Given the description of an element on the screen output the (x, y) to click on. 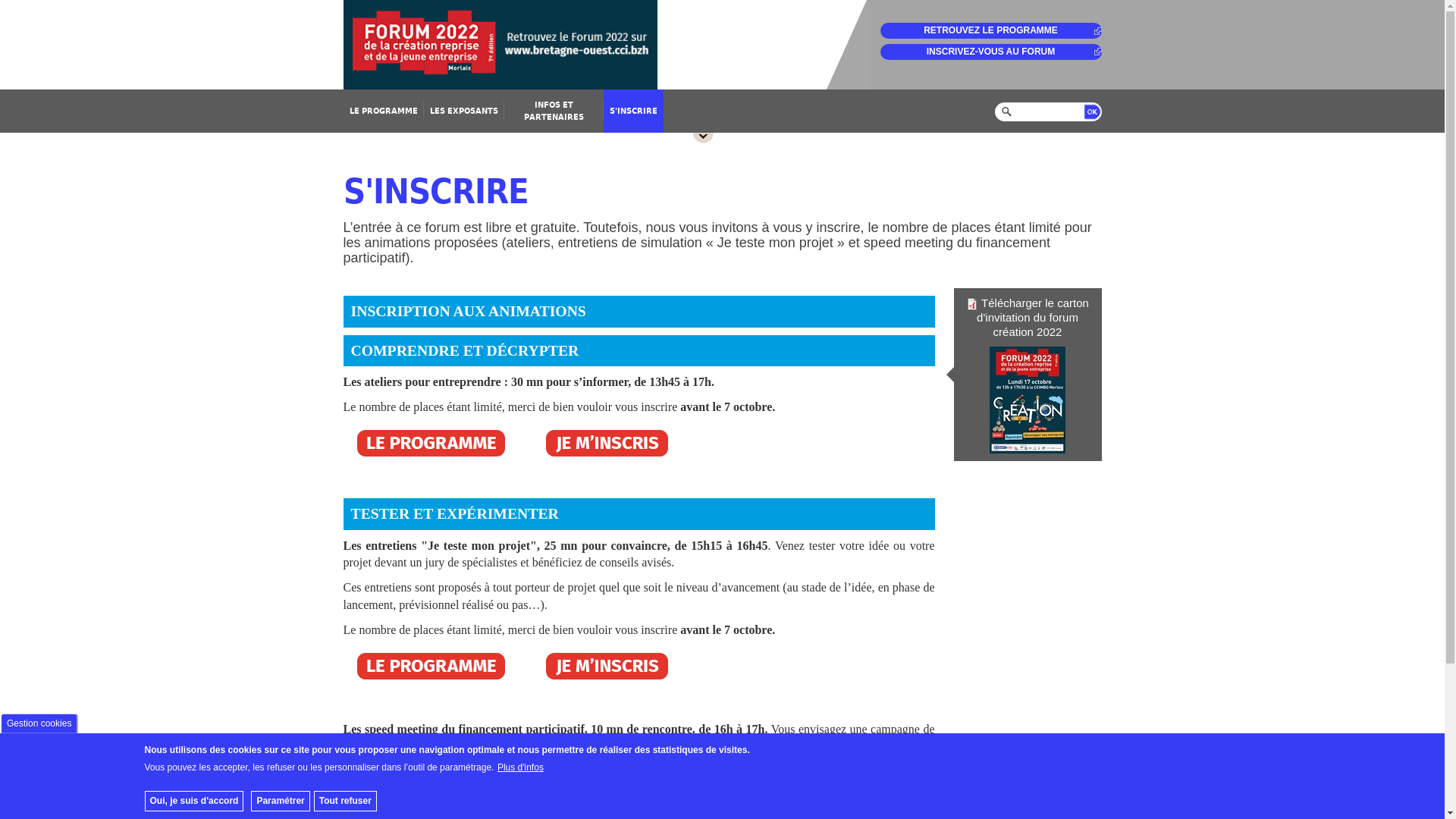
LE PROGRAMME Element type: text (382, 110)
Accueil Element type: hover (721, 44)
Plus d'infos Element type: text (520, 767)
RETROUVEZ LE PROGRAMME Element type: text (990, 30)
INSCRIVEZ-VOUS AU FORUM Element type: text (990, 51)
INFOS ET PARTENAIRES Element type: text (552, 110)
S'INSCRIRE Element type: text (633, 110)
Appliquer Element type: text (1091, 111)
Oui, je suis d'accord Element type: text (193, 800)
  Element type: text (703, 137)
Tout refuser Element type: text (344, 800)
Fermer le menu Element type: hover (703, 137)
carton_invitation_forum Element type: hover (1027, 399)
le programme forum bouton Element type: hover (430, 444)
Aller au contenu principal Element type: text (0, 0)
Gestion cookies Element type: text (39, 722)
application/pdf Element type: hover (972, 304)
LES EXPOSANTS Element type: text (463, 110)
le programme forum bouton Element type: hover (430, 667)
kengo.bzh Element type: text (433, 780)
